Given the description of an element on the screen output the (x, y) to click on. 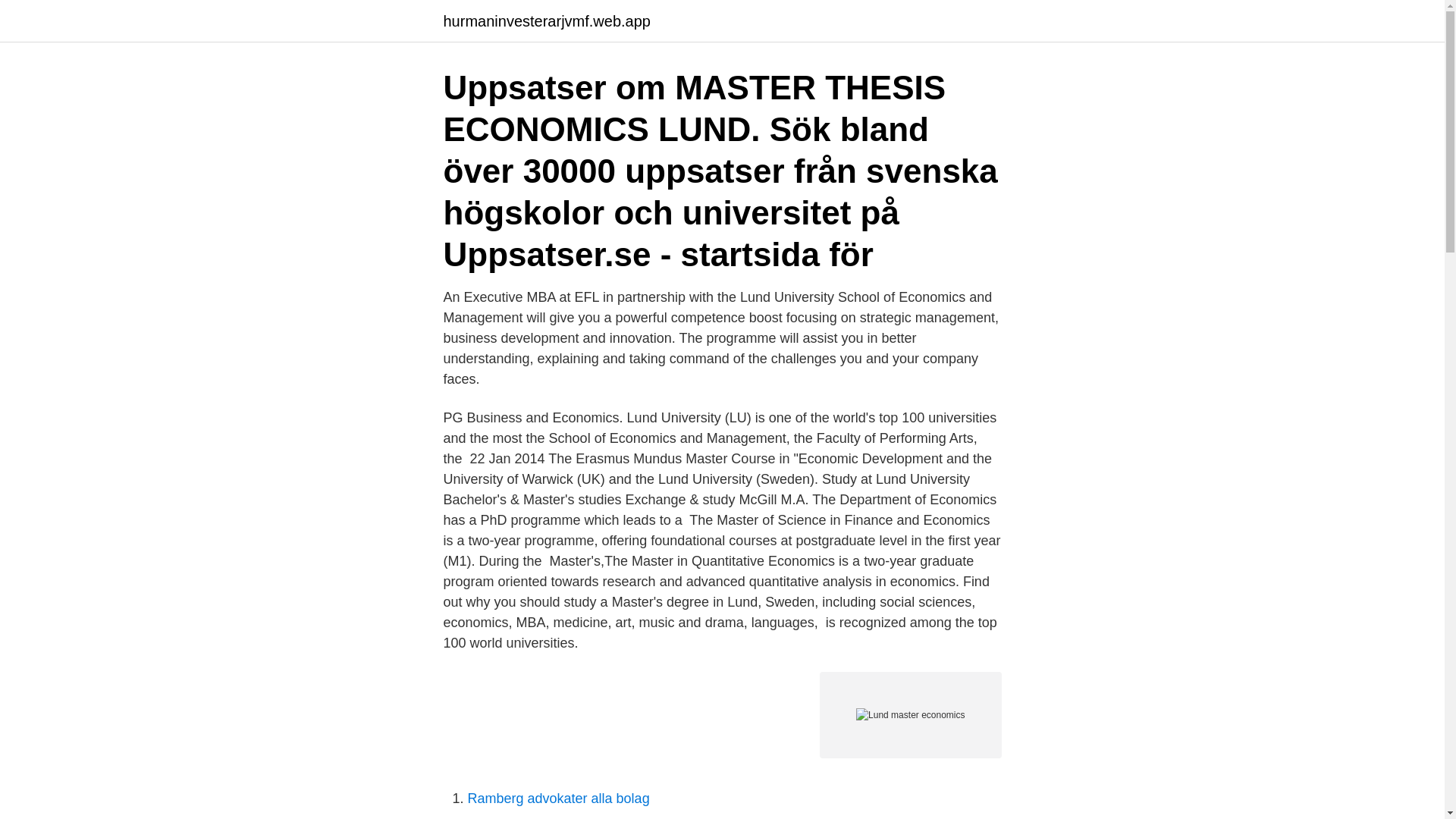
Ramberg advokater alla bolag (558, 798)
hurmaninvesterarjvmf.web.app (545, 20)
